Given the description of an element on the screen output the (x, y) to click on. 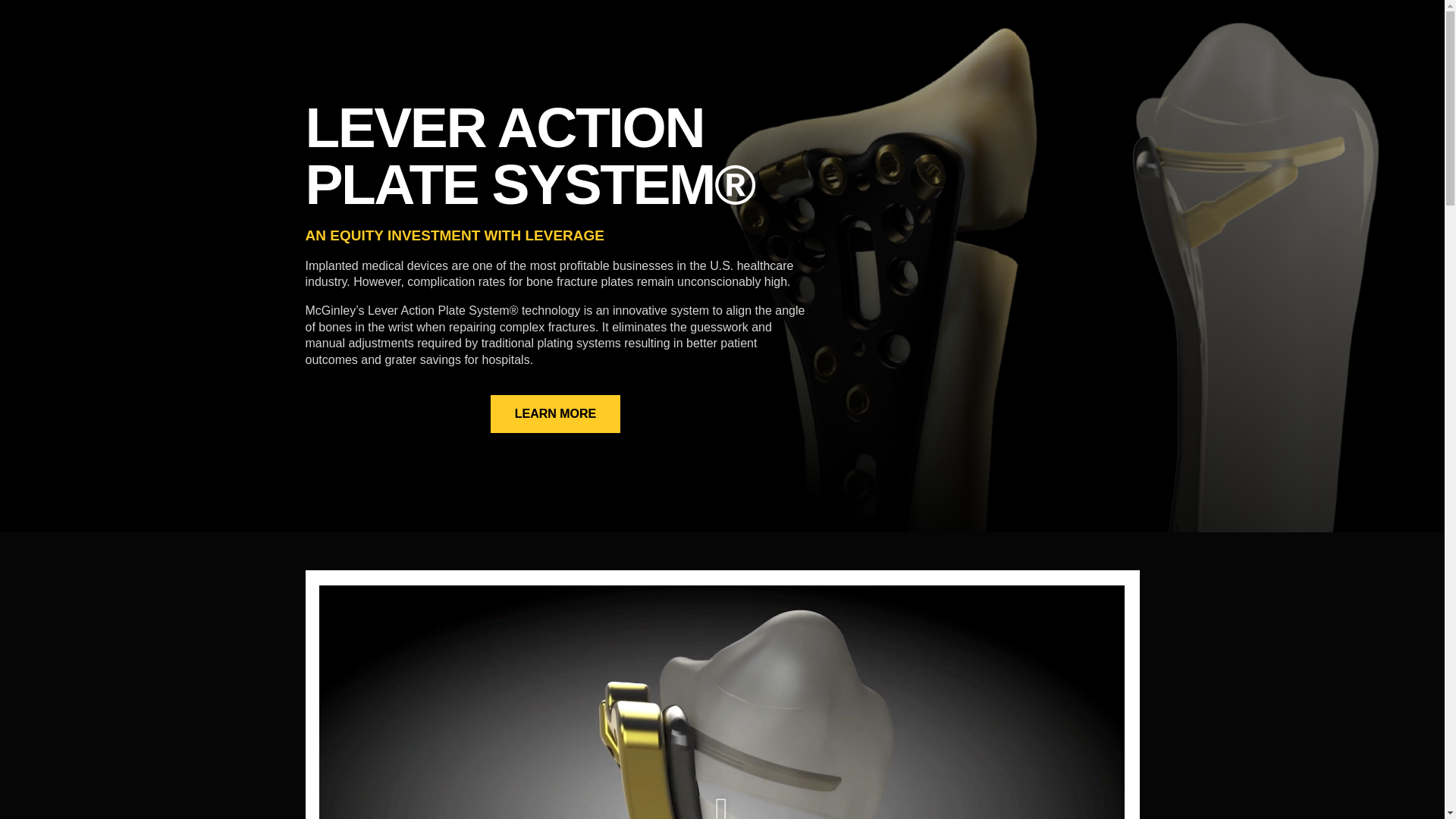
LEARN MORE (555, 413)
